Given the description of an element on the screen output the (x, y) to click on. 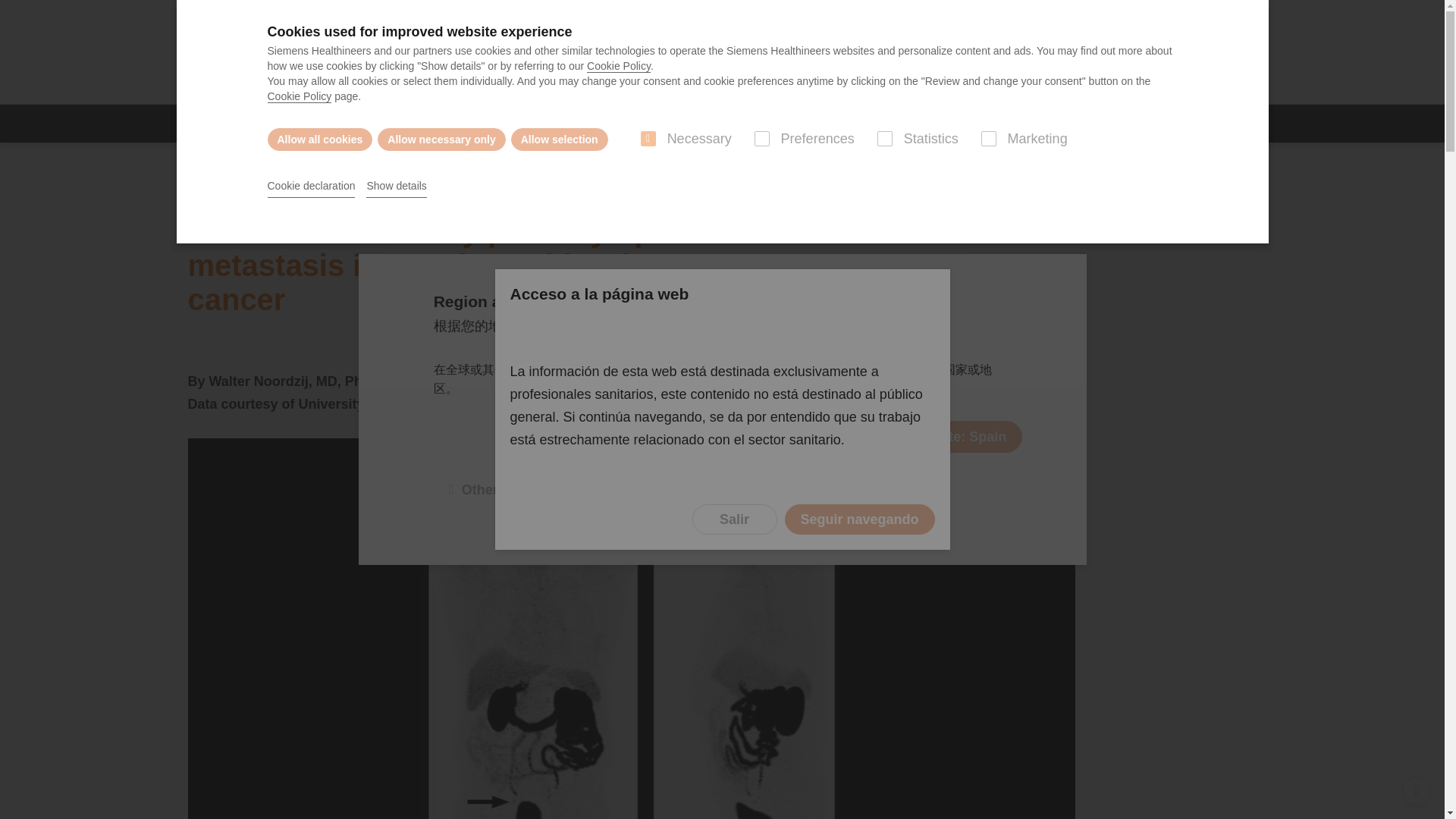
Show details (396, 186)
Cookie Policy (618, 65)
Allow necessary only (441, 138)
Allow all cookies (319, 138)
Allow selection (559, 138)
Cookie declaration (310, 186)
Cookie Policy (298, 96)
